Given the description of an element on the screen output the (x, y) to click on. 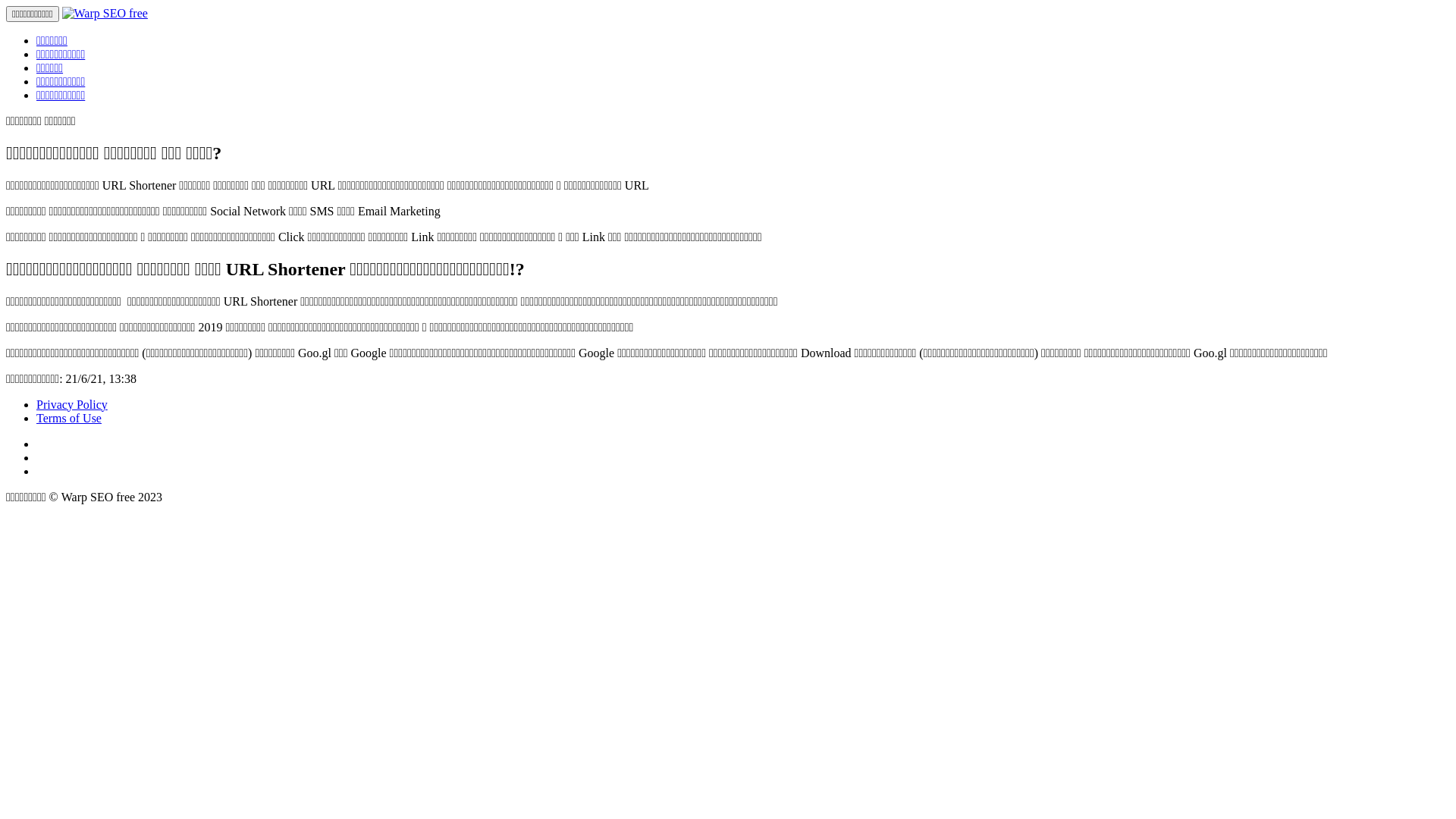
Privacy Policy Element type: text (71, 404)
Terms of Use Element type: text (68, 417)
